Given the description of an element on the screen output the (x, y) to click on. 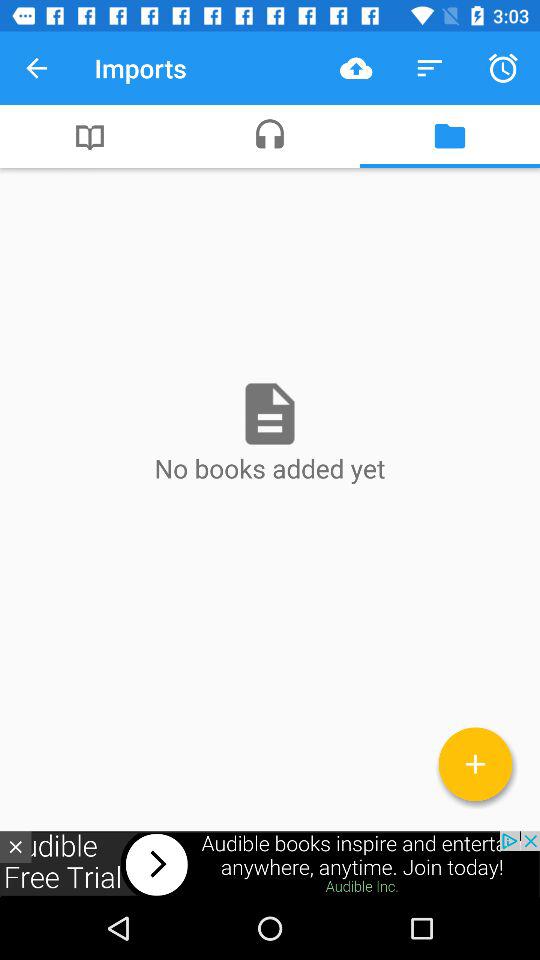
go to add (475, 764)
